Given the description of an element on the screen output the (x, y) to click on. 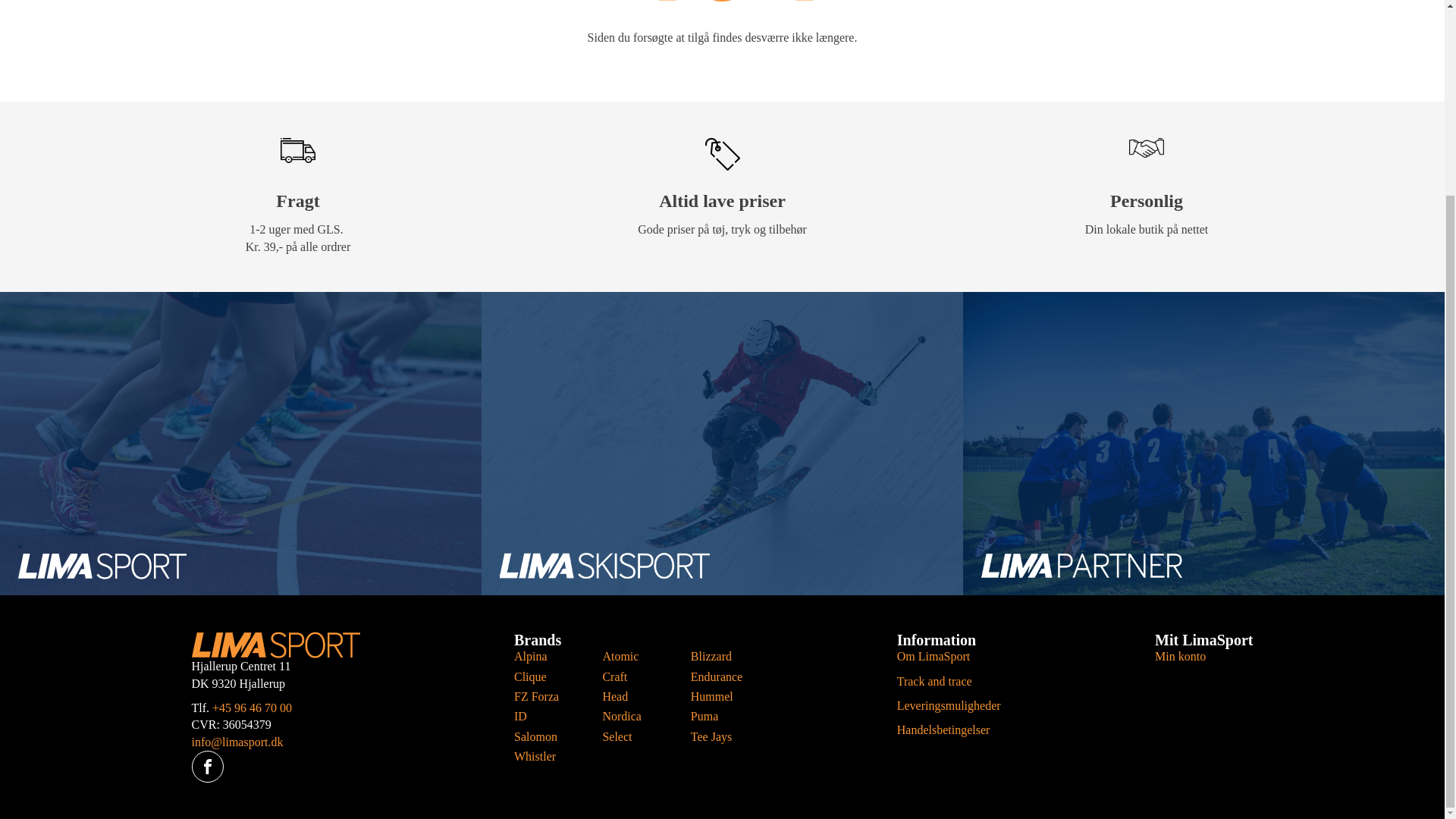
Min konto (1179, 656)
FZ Forza (539, 696)
Whistler (539, 756)
Handelsbetingelser (943, 729)
Om LimaSport (932, 656)
Puma (716, 716)
Nordica (627, 716)
Craft (627, 677)
Endurance (716, 677)
Atomic (627, 656)
